Given the description of an element on the screen output the (x, y) to click on. 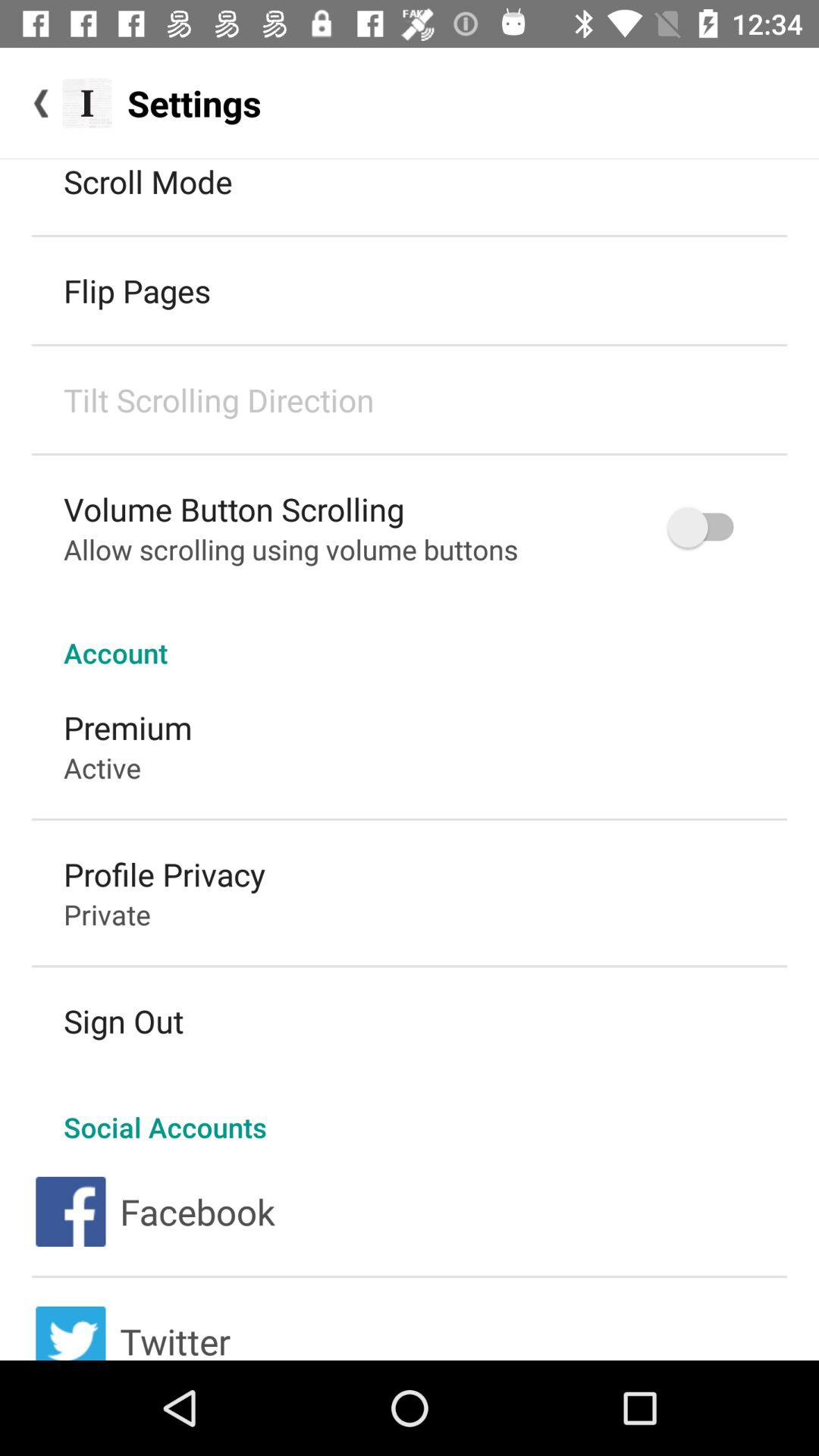
turn off the icon below the social accounts icon (197, 1211)
